Given the description of an element on the screen output the (x, y) to click on. 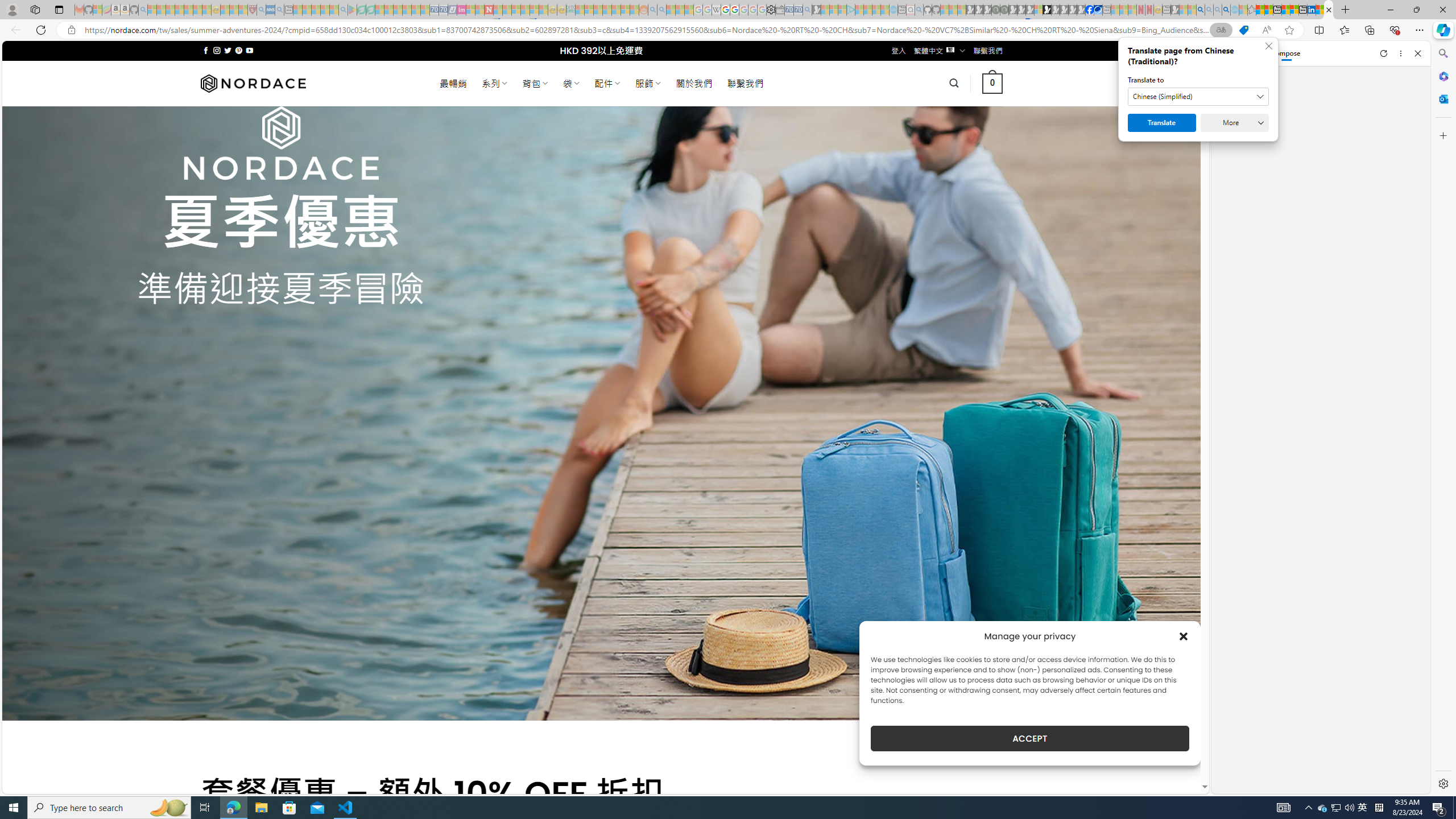
MSN - Sleeping (1174, 9)
Aberdeen, Hong Kong SAR weather forecast | Microsoft Weather (1268, 9)
 0  (992, 83)
Google Chrome Internet Browser Download - Search Images (1225, 9)
Compose (1279, 52)
Nordace - Summer Adventures 2024 (1328, 9)
utah sues federal government - Search - Sleeping (279, 9)
